Given the description of an element on the screen output the (x, y) to click on. 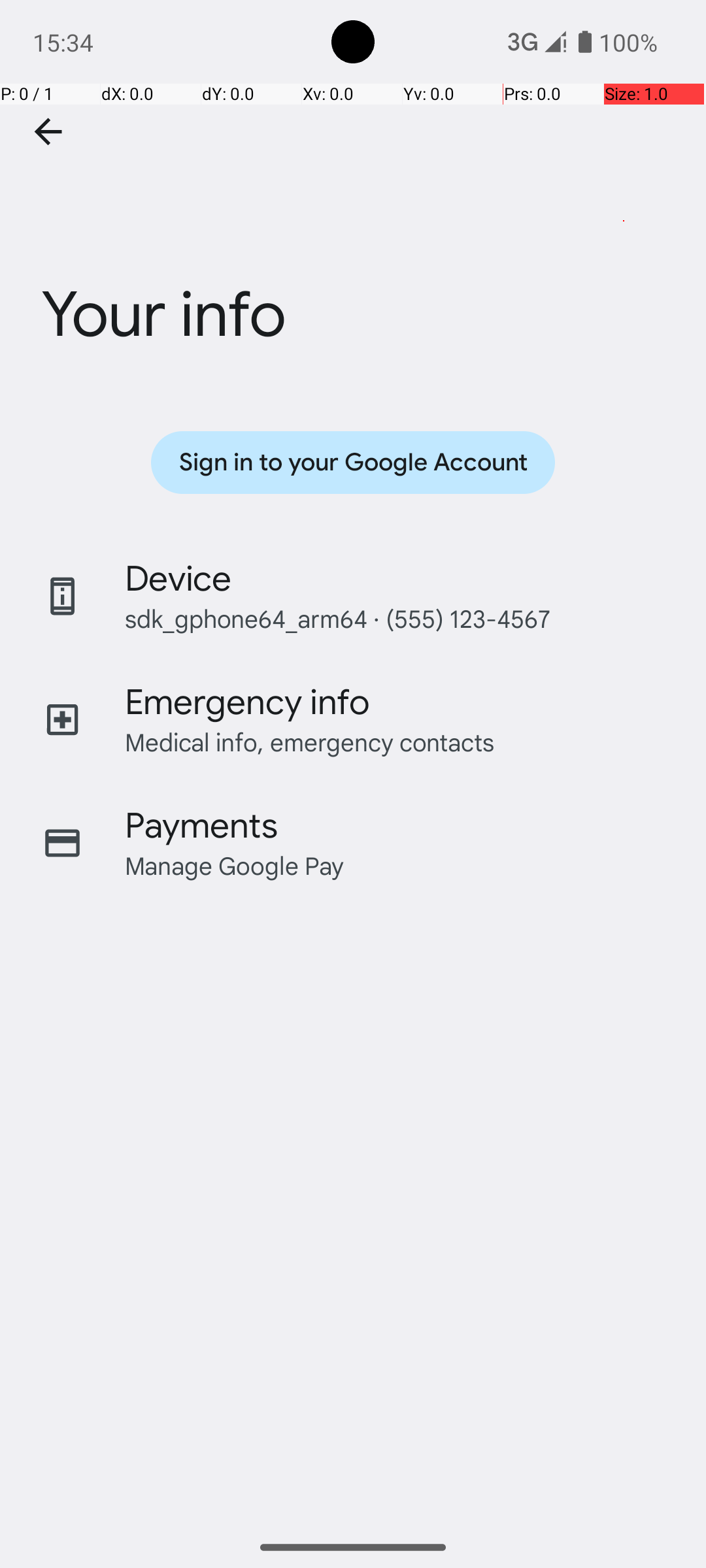
Your info Element type: android.widget.FrameLayout (353, 236)
Sign in to your Google Account Element type: android.widget.Button (352, 462)
Device Element type: android.widget.TextView (178, 578)
sdk_gphone64_arm64 · (555) 123-4567 Element type: android.widget.TextView (337, 618)
Emergency info Element type: android.widget.TextView (246, 702)
Medical info, emergency contacts Element type: android.widget.TextView (309, 741)
Payments Element type: android.widget.TextView (200, 825)
Manage Google Pay Element type: android.widget.TextView (234, 865)
